Given the description of an element on the screen output the (x, y) to click on. 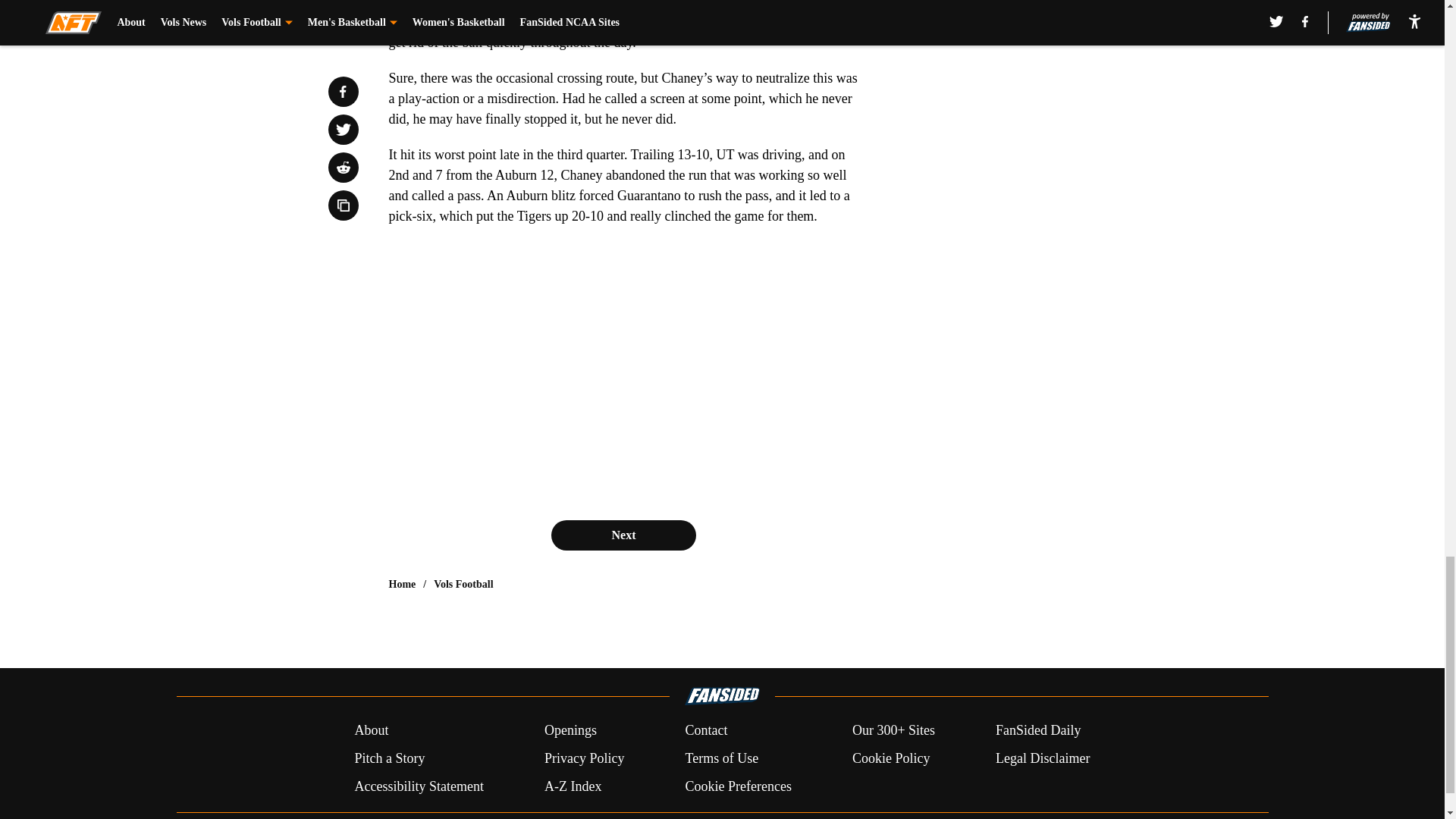
Privacy Policy (584, 758)
Terms of Use (721, 758)
Pitch a Story (389, 758)
Accessibility Statement (418, 786)
Next (622, 535)
About (370, 730)
Openings (570, 730)
Legal Disclaimer (1042, 758)
Home (401, 584)
Contact (705, 730)
